Given the description of an element on the screen output the (x, y) to click on. 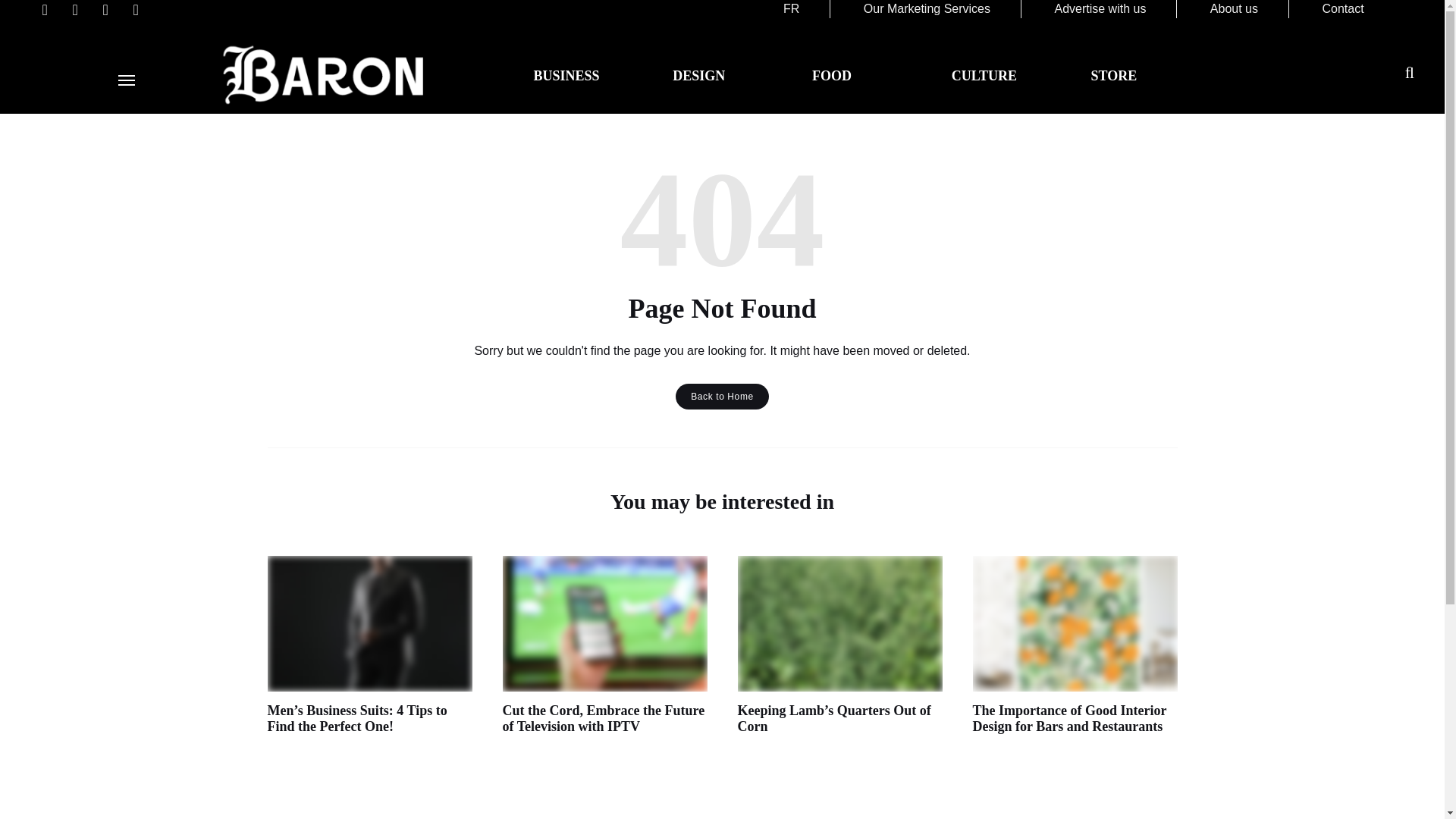
About us (1233, 8)
Our Marketing Services (926, 8)
Advertise with us (1099, 8)
Contact (1342, 8)
BUSINESS (565, 75)
FR (791, 8)
Menu (126, 79)
